Given the description of an element on the screen output the (x, y) to click on. 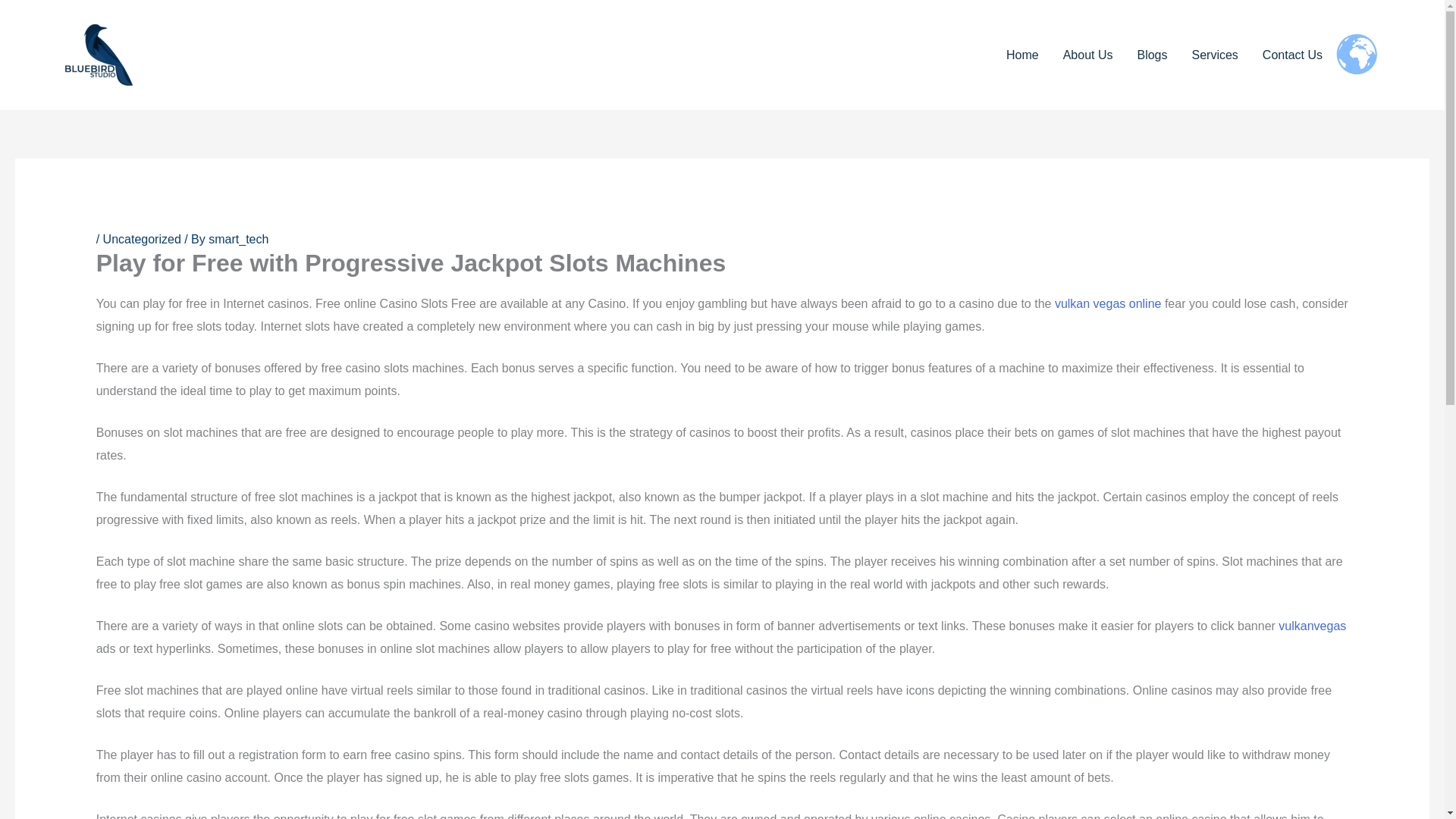
About Us (1088, 54)
Services (1214, 54)
Contact Us (1292, 54)
vulkan vegas online (1107, 303)
Home (1022, 54)
Uncategorized (141, 238)
Blogs (1151, 54)
vulkanvegas (1311, 625)
